Given the description of an element on the screen output the (x, y) to click on. 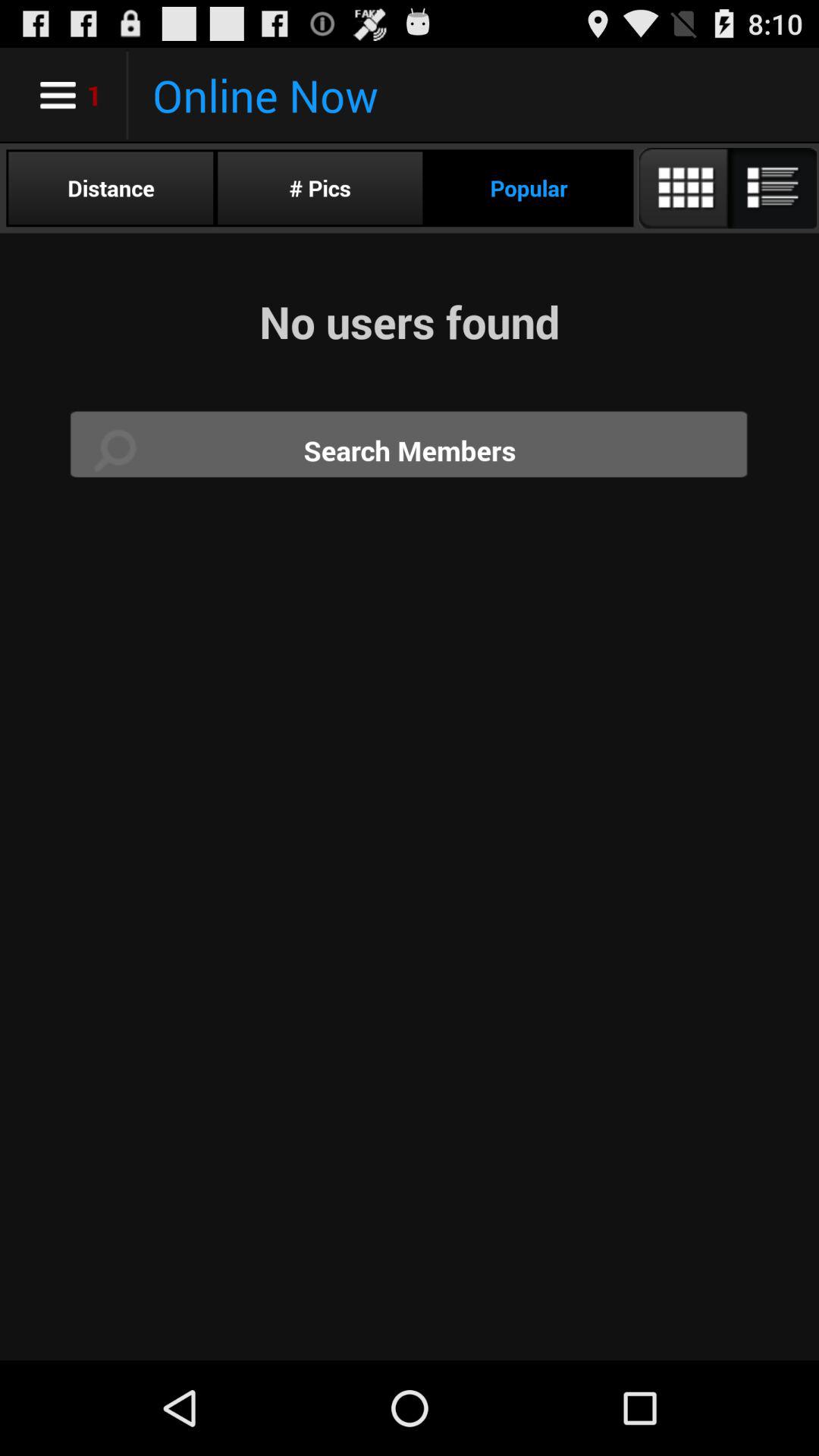
turn on icon to the right of the popular icon (726, 187)
